Given the description of an element on the screen output the (x, y) to click on. 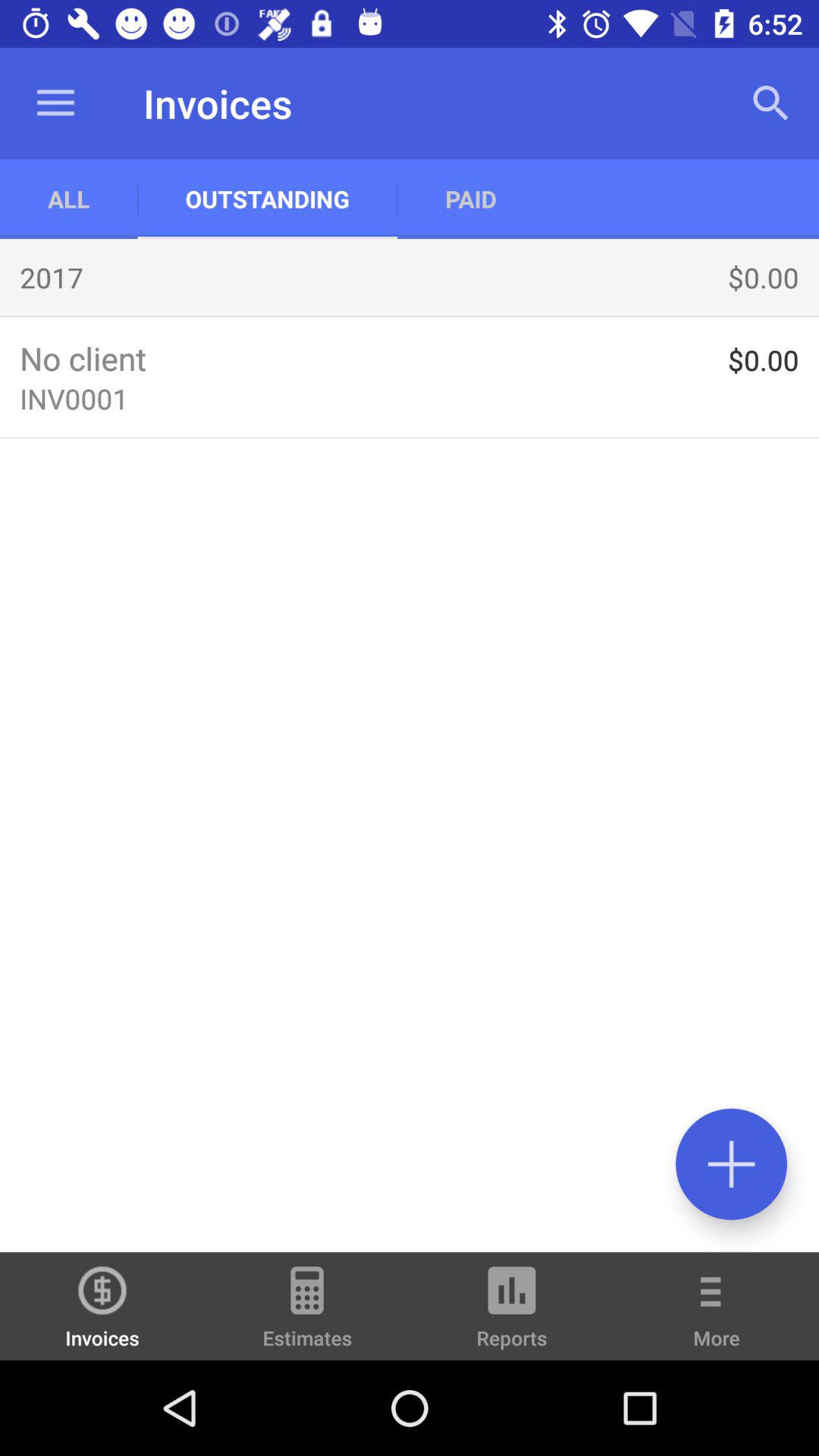
turn on item below the inv0001 item (731, 1163)
